Given the description of an element on the screen output the (x, y) to click on. 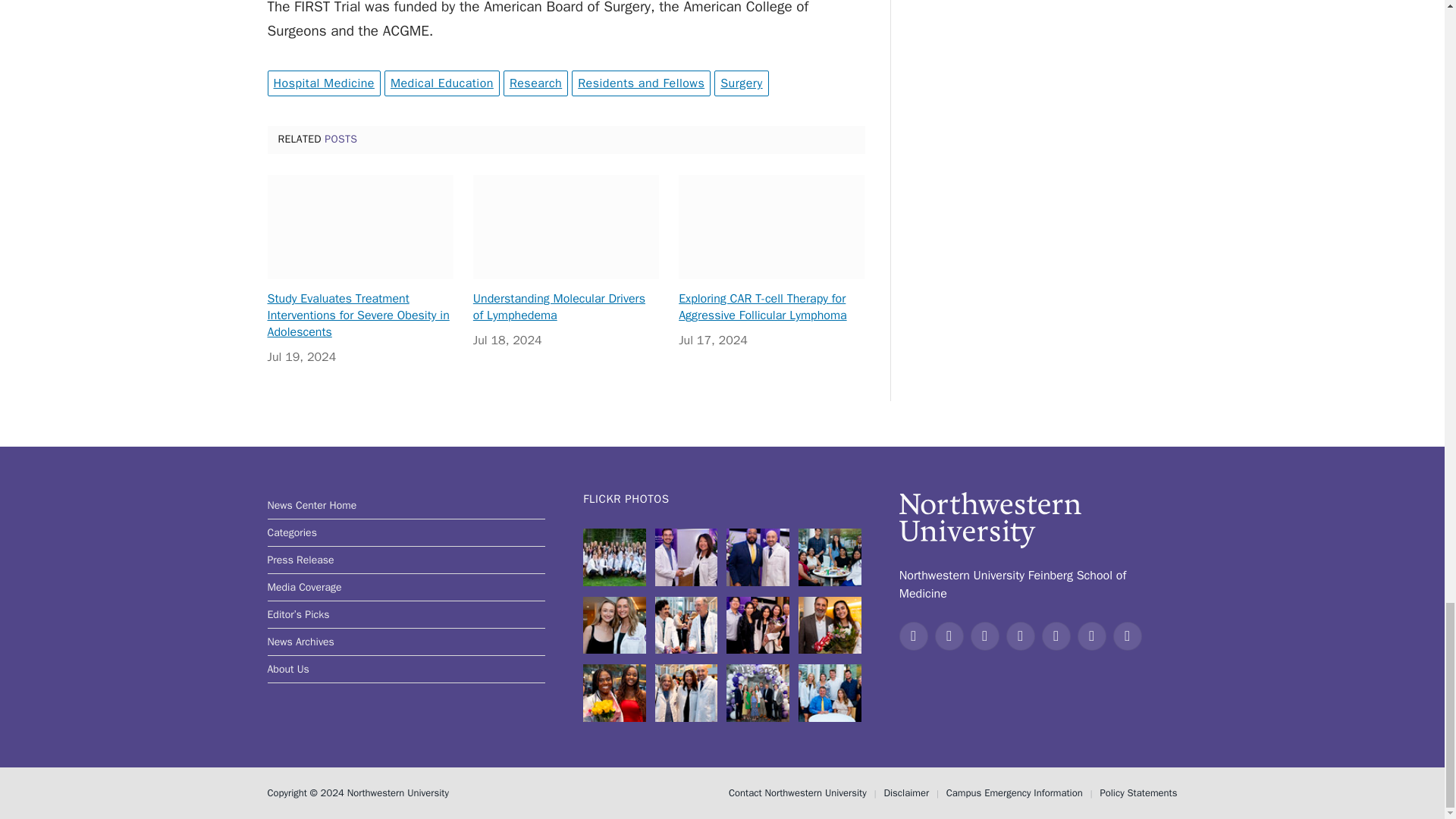
Understanding Molecular Drivers of Lymphedema (566, 227)
